Given the description of an element on the screen output the (x, y) to click on. 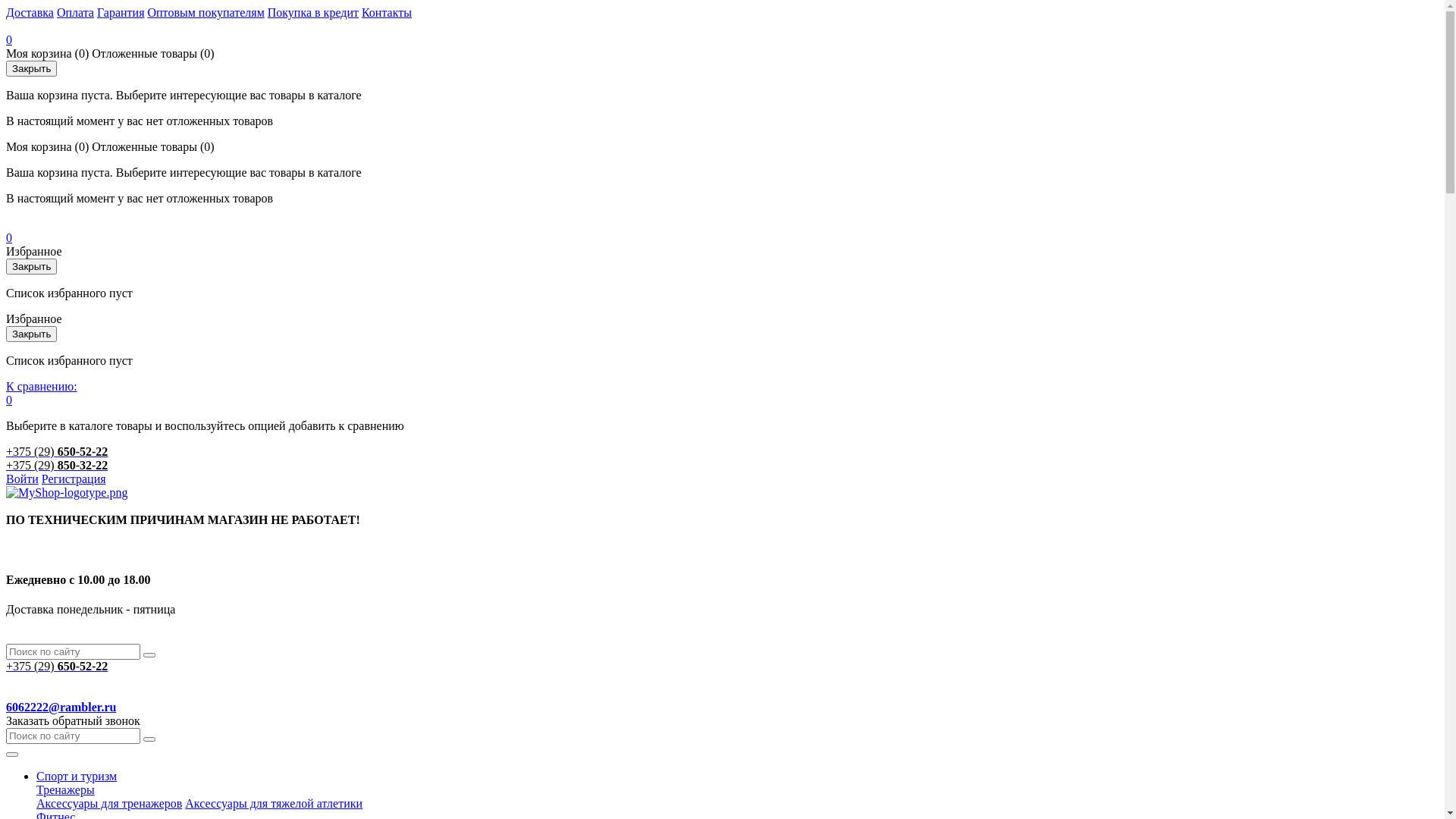
6062222@rambler.ru Element type: text (61, 706)
+375 (29) Element type: text (30, 665)
650-52-22 Element type: text (82, 665)
+375 (29) Element type: text (30, 451)
0 Element type: text (9, 46)
650-52-22 Element type: text (82, 451)
MyShop-logotype.png Element type: hover (66, 492)
+375 (29) Element type: text (30, 464)
0 Element type: text (9, 244)
850-32-22 Element type: text (82, 464)
